Given the description of an element on the screen output the (x, y) to click on. 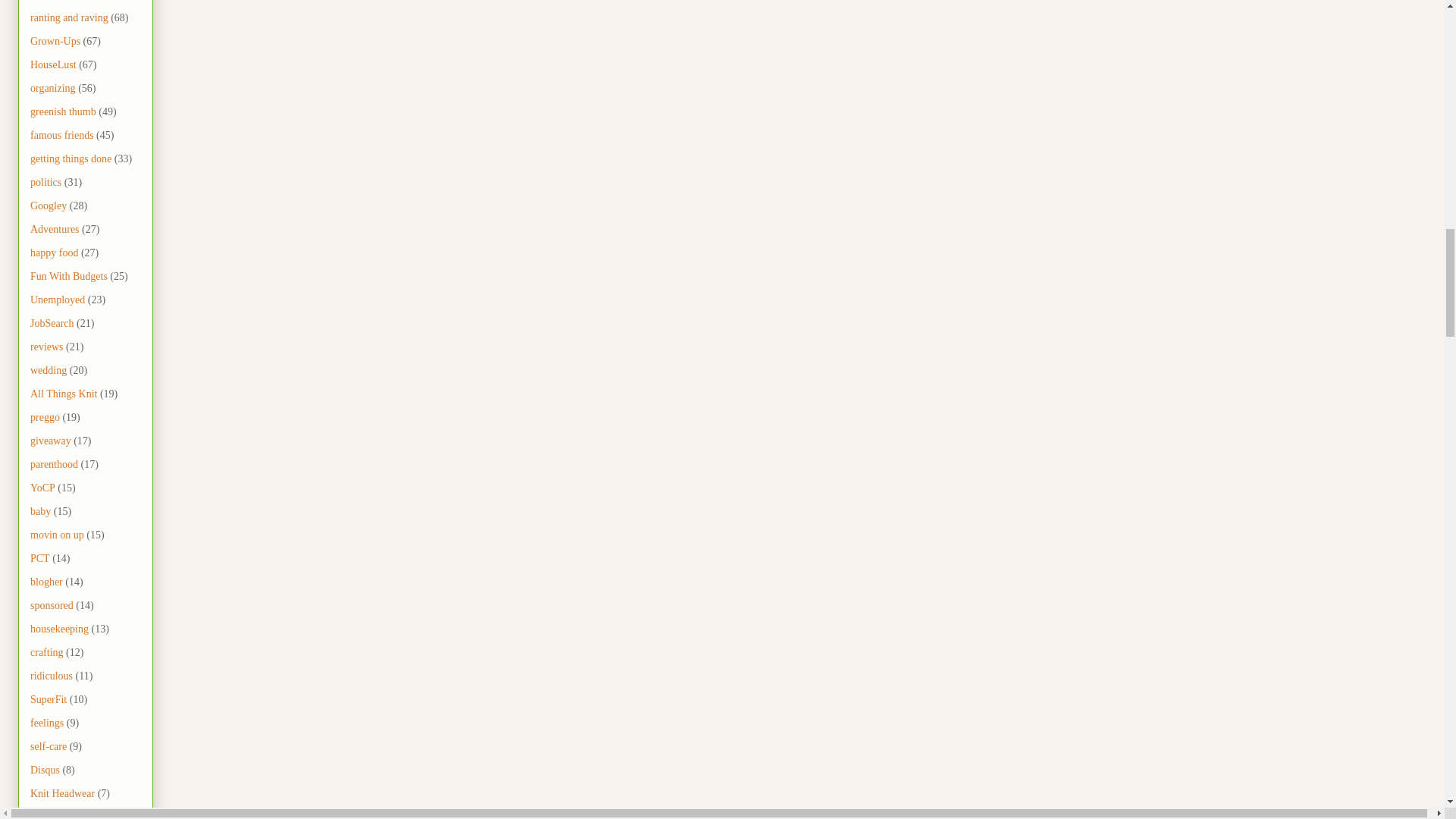
Grown-Ups (55, 41)
organizing (52, 88)
HouseLust (53, 64)
greenish thumb (63, 111)
ranting and raving (68, 17)
